Given the description of an element on the screen output the (x, y) to click on. 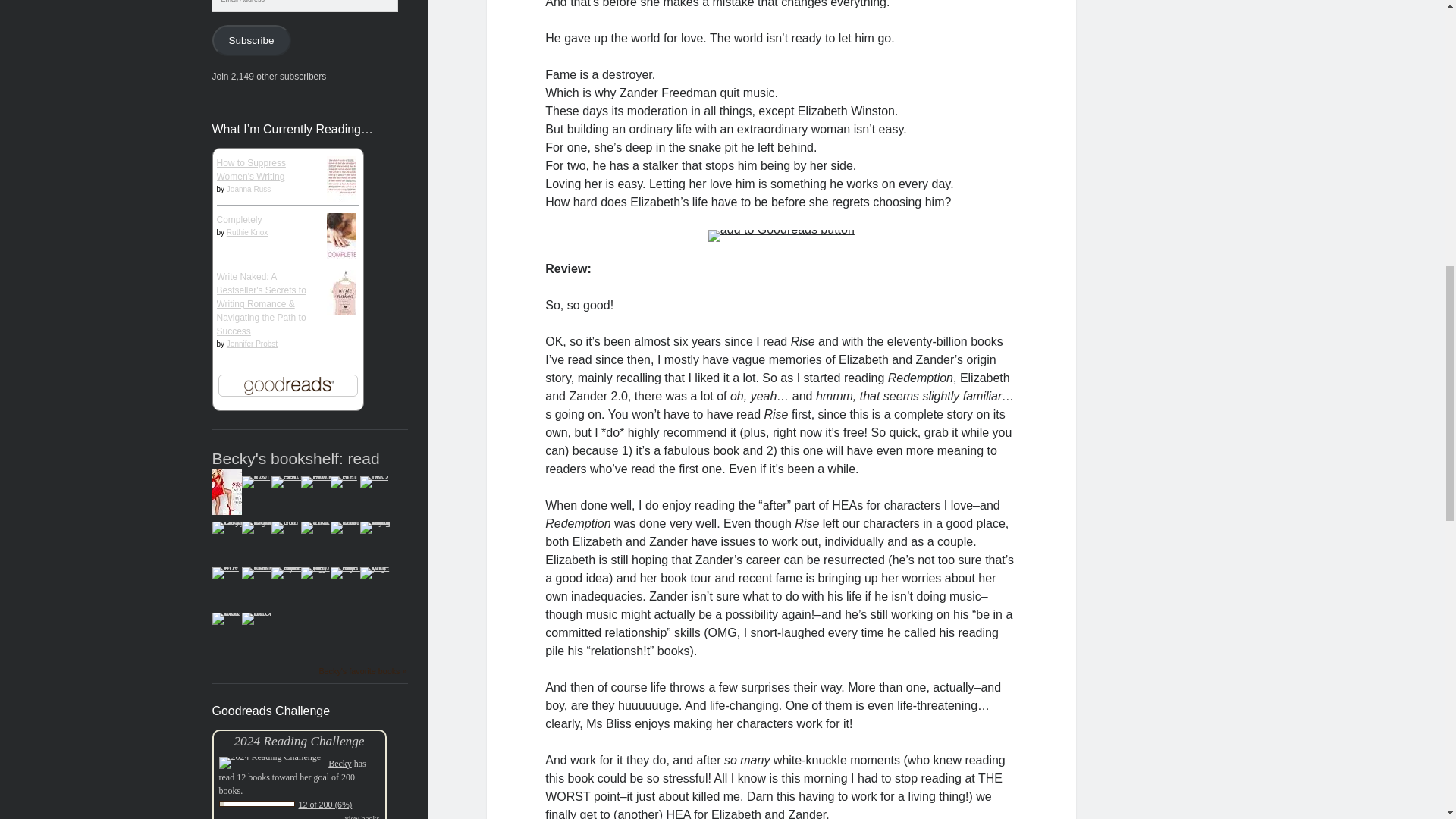
Mr. H.O.A. (373, 475)
Completely (239, 219)
Joanna Russ (248, 189)
Becky's bookshelf: read (296, 457)
Dear Sexy Ex-Boyfriend (231, 521)
Jennifer Probst (252, 343)
How to Suppress Women's Writing (250, 169)
How to Suppress Women's Writing (344, 209)
Subscribe (251, 40)
Sisters and Secrets (286, 475)
Ruthie Knox (247, 232)
